Given the description of an element on the screen output the (x, y) to click on. 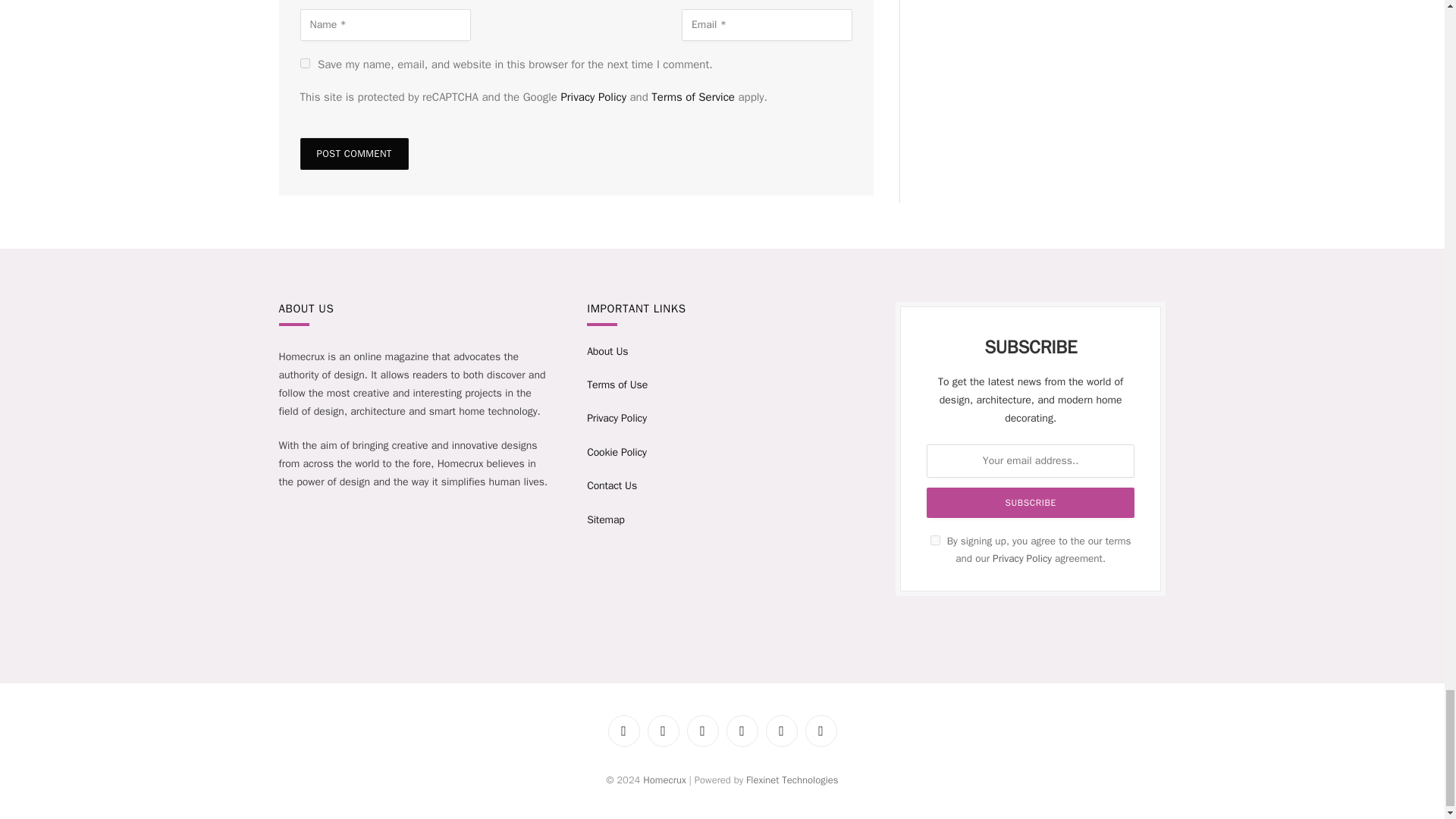
SUBSCRIBE (1030, 502)
on (935, 540)
yes (304, 62)
Post Comment (354, 153)
